Given the description of an element on the screen output the (x, y) to click on. 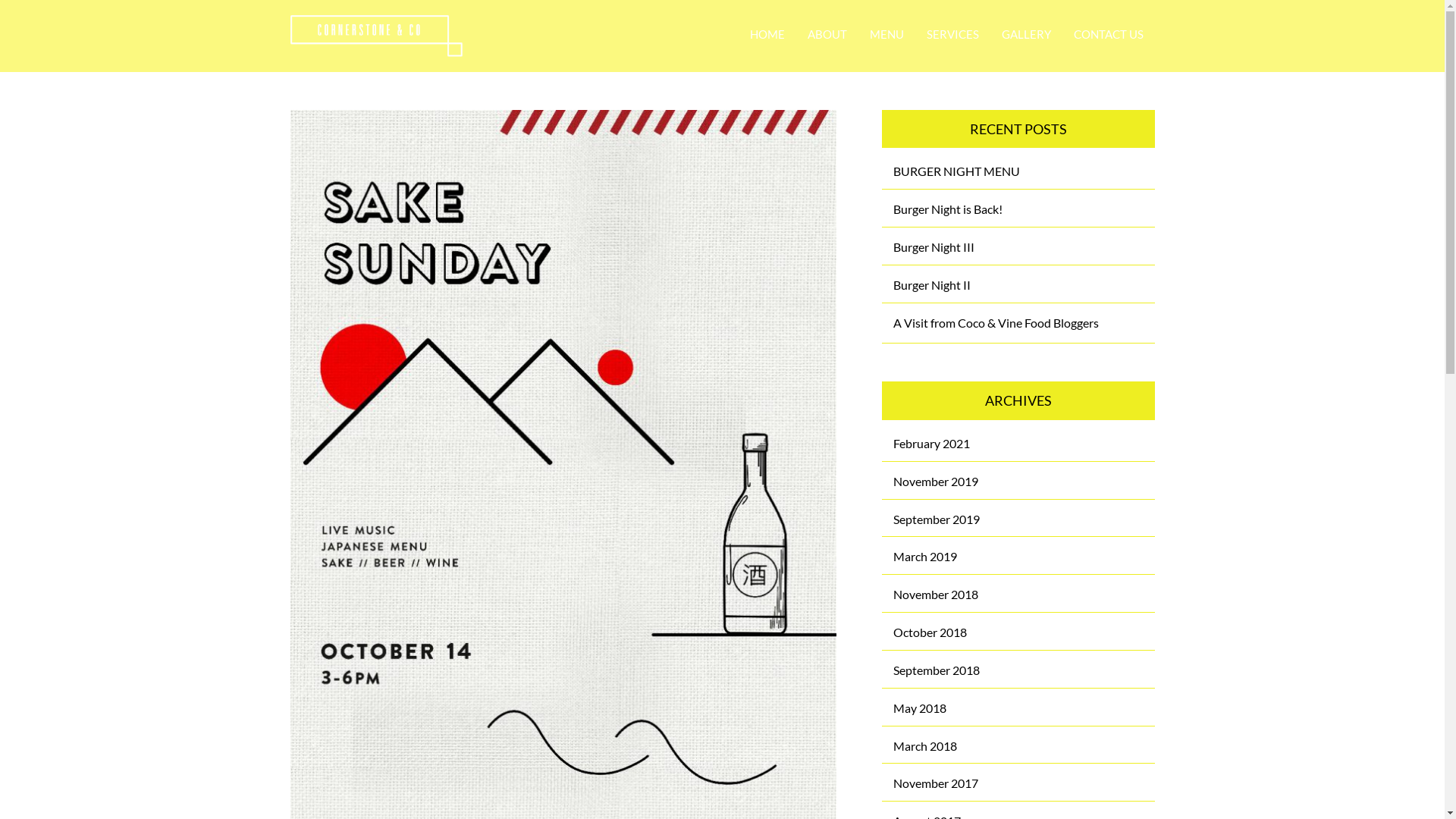
GALLERY Element type: text (1026, 35)
BURGER NIGHT MENU Element type: text (956, 170)
March 2018 Element type: text (925, 745)
HOME Element type: text (767, 35)
November 2018 Element type: text (935, 593)
September 2018 Element type: text (936, 669)
A Visit from Coco & Vine Food Bloggers Element type: text (995, 322)
March 2019 Element type: text (925, 556)
May 2018 Element type: text (919, 707)
October 2018 Element type: text (929, 631)
SERVICES Element type: text (951, 35)
ABOUT Element type: text (827, 35)
MENU Element type: text (886, 35)
CONTACT US Element type: text (1107, 35)
Burger Night II Element type: text (931, 284)
Burger Night III Element type: text (933, 246)
Burger Night is Back! Element type: text (947, 208)
November 2019 Element type: text (935, 480)
November 2017 Element type: text (935, 782)
September 2019 Element type: text (936, 518)
February 2021 Element type: text (931, 443)
